Given the description of an element on the screen output the (x, y) to click on. 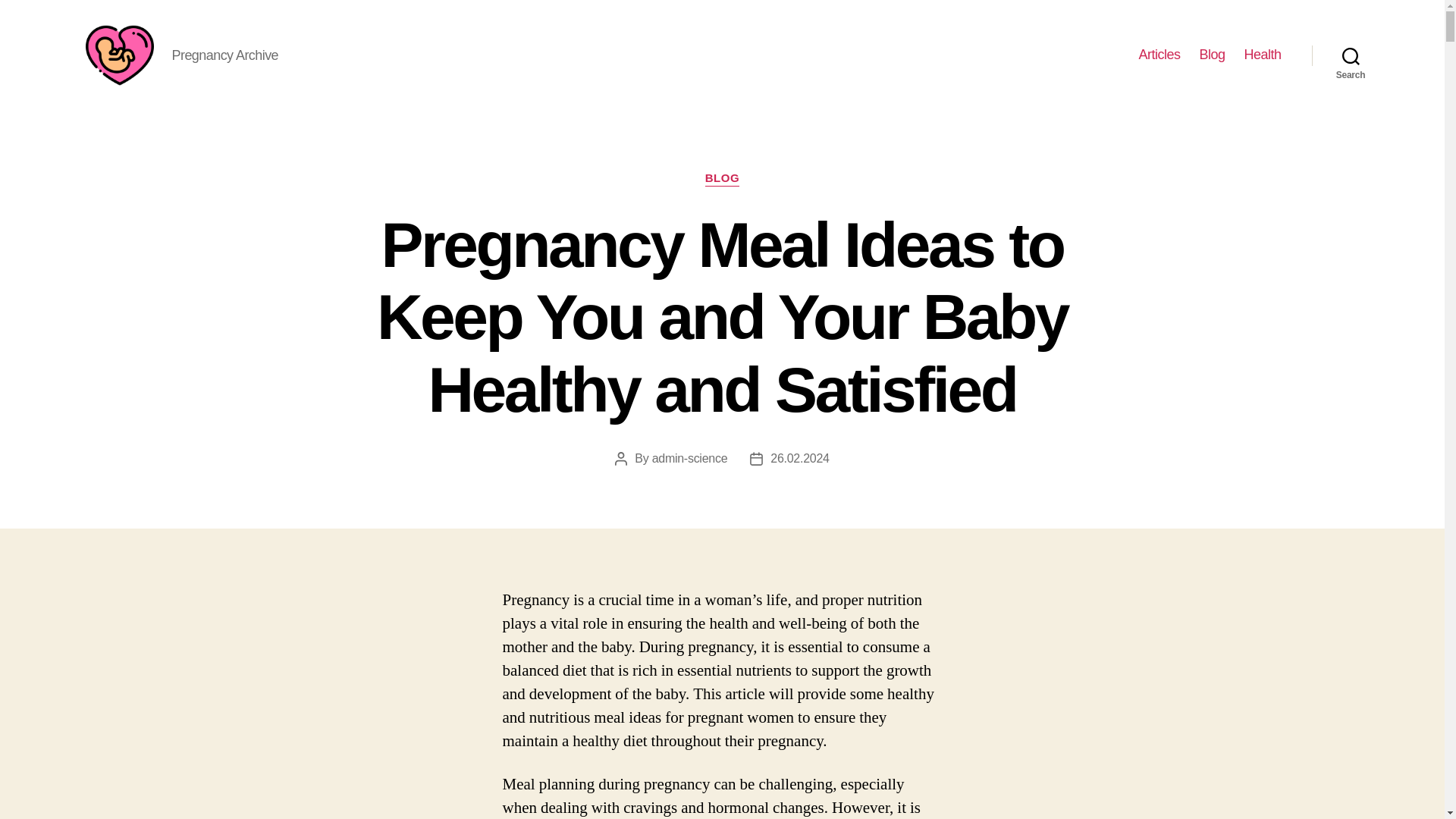
BLOG (721, 178)
Health (1262, 54)
26.02.2024 (799, 458)
Blog (1211, 54)
Search (1350, 55)
Articles (1158, 54)
admin-science (690, 458)
